Given the description of an element on the screen output the (x, y) to click on. 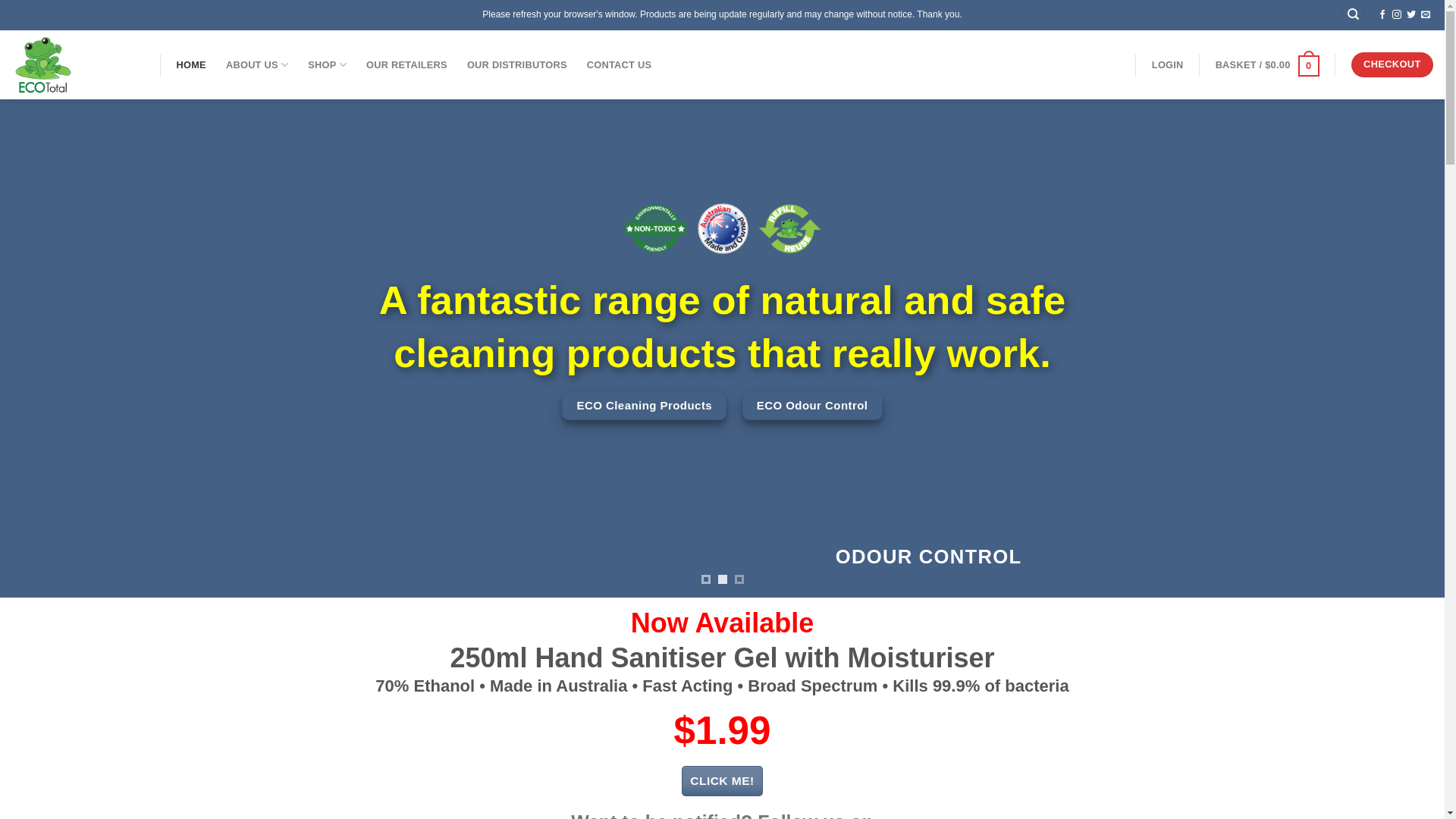
Follow on Instagram Element type: hover (1396, 14)
ECOTotal Australia - Your Greener Cleaning Products Element type: hover (74, 64)
CONTACT US Element type: text (619, 64)
BASKET / $0.00
0 Element type: text (1267, 64)
Send us an email Element type: hover (1425, 14)
Follow on Twitter Element type: hover (1410, 14)
ECO Odour Control Element type: text (812, 405)
HOME Element type: text (190, 64)
ABOUT US Element type: text (256, 64)
LOGIN Element type: text (1167, 64)
CHECKOUT Element type: text (1392, 64)
SHOP Element type: text (326, 64)
OUR DISTRIBUTORS Element type: text (517, 64)
ECO Cleaning Products Element type: text (643, 405)
Follow on Facebook Element type: hover (1381, 14)
CLICK ME! Element type: text (721, 780)
OUR RETAILERS Element type: text (406, 64)
